Given the description of an element on the screen output the (x, y) to click on. 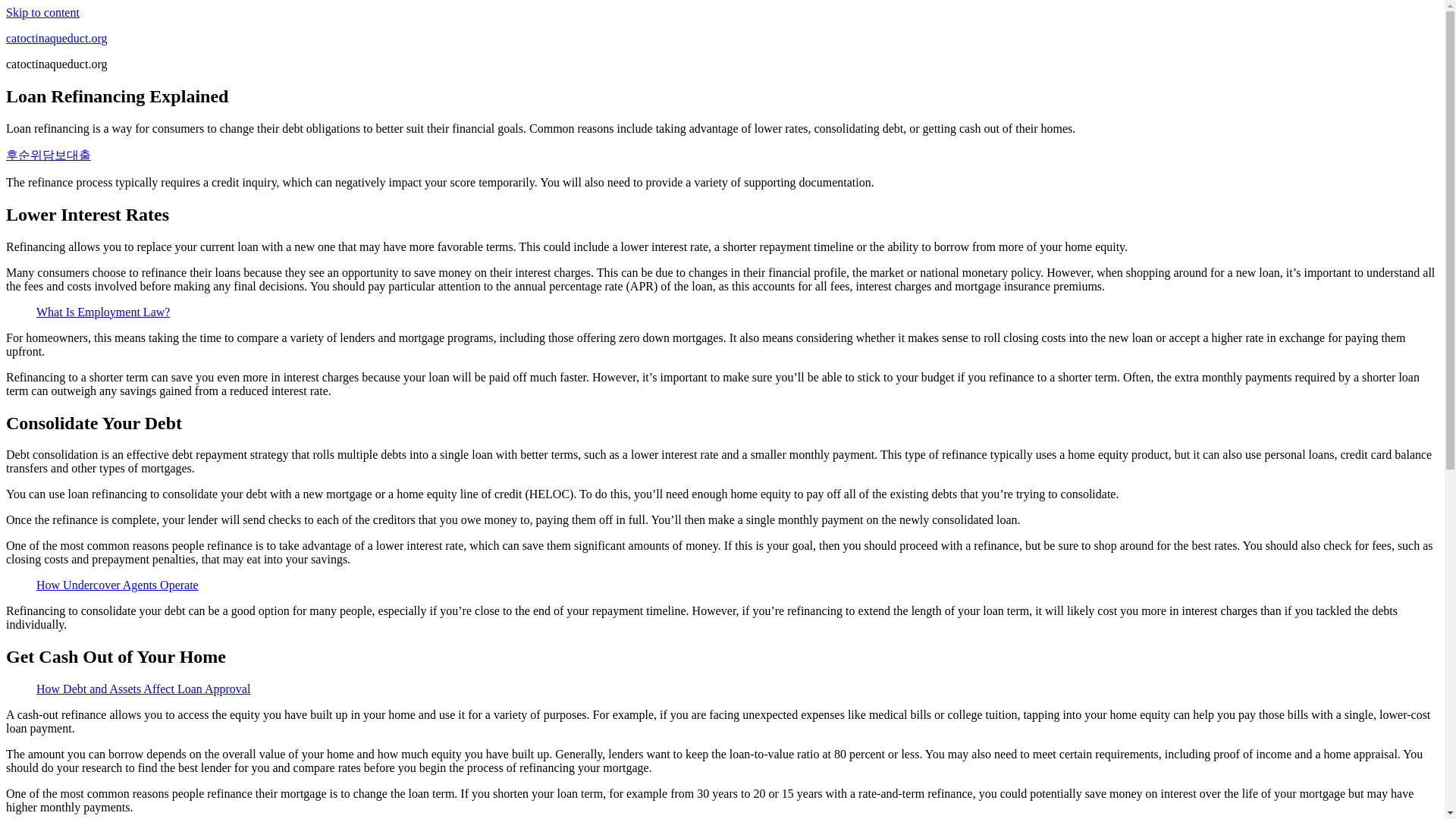
How Undercover Agents Operate (117, 584)
How Debt and Assets Affect Loan Approval (143, 688)
What Is Employment Law? (103, 311)
catoctinaqueduct.org (55, 38)
Skip to content (42, 11)
